Given the description of an element on the screen output the (x, y) to click on. 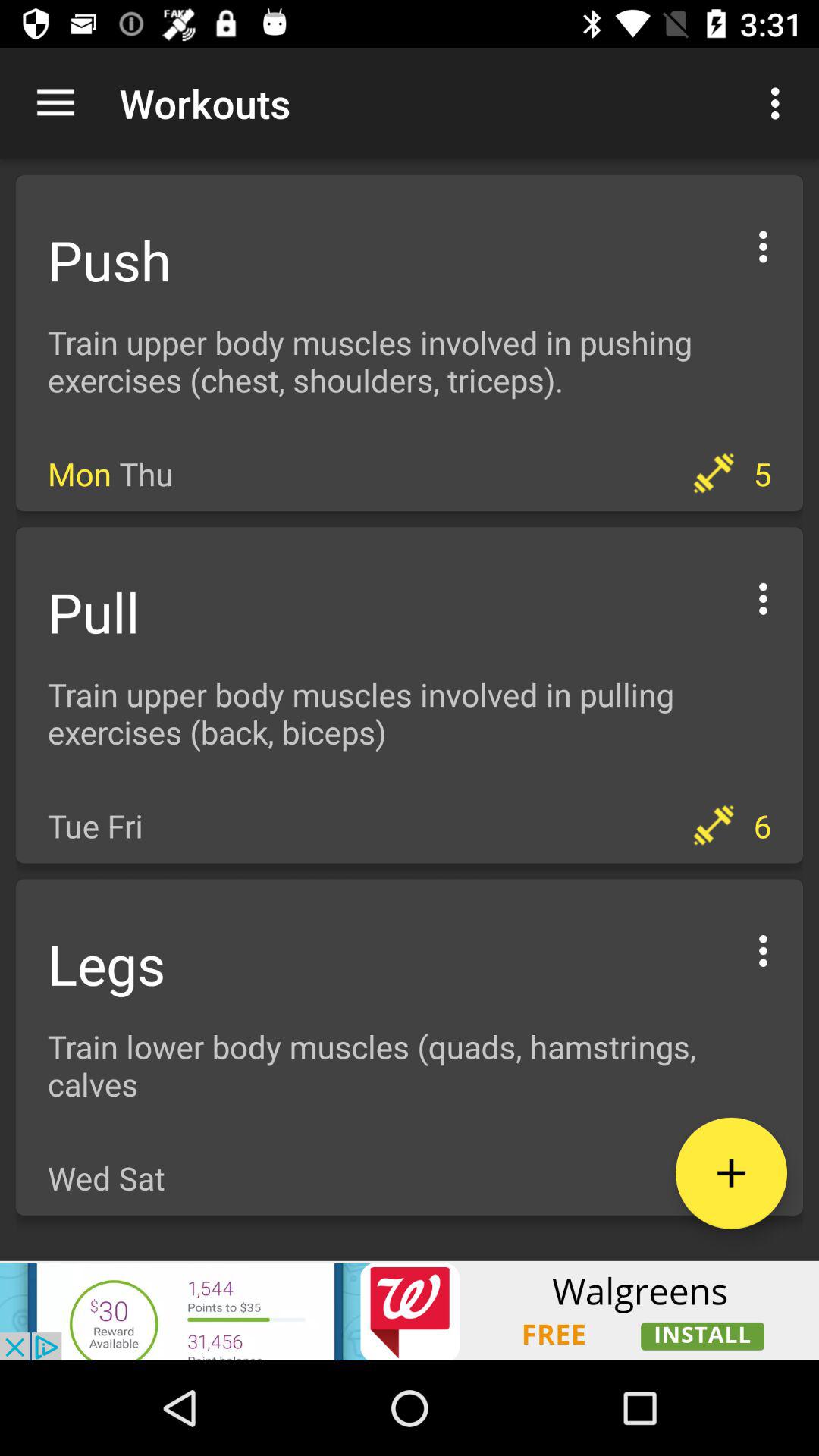
more options on legs (763, 948)
